Given the description of an element on the screen output the (x, y) to click on. 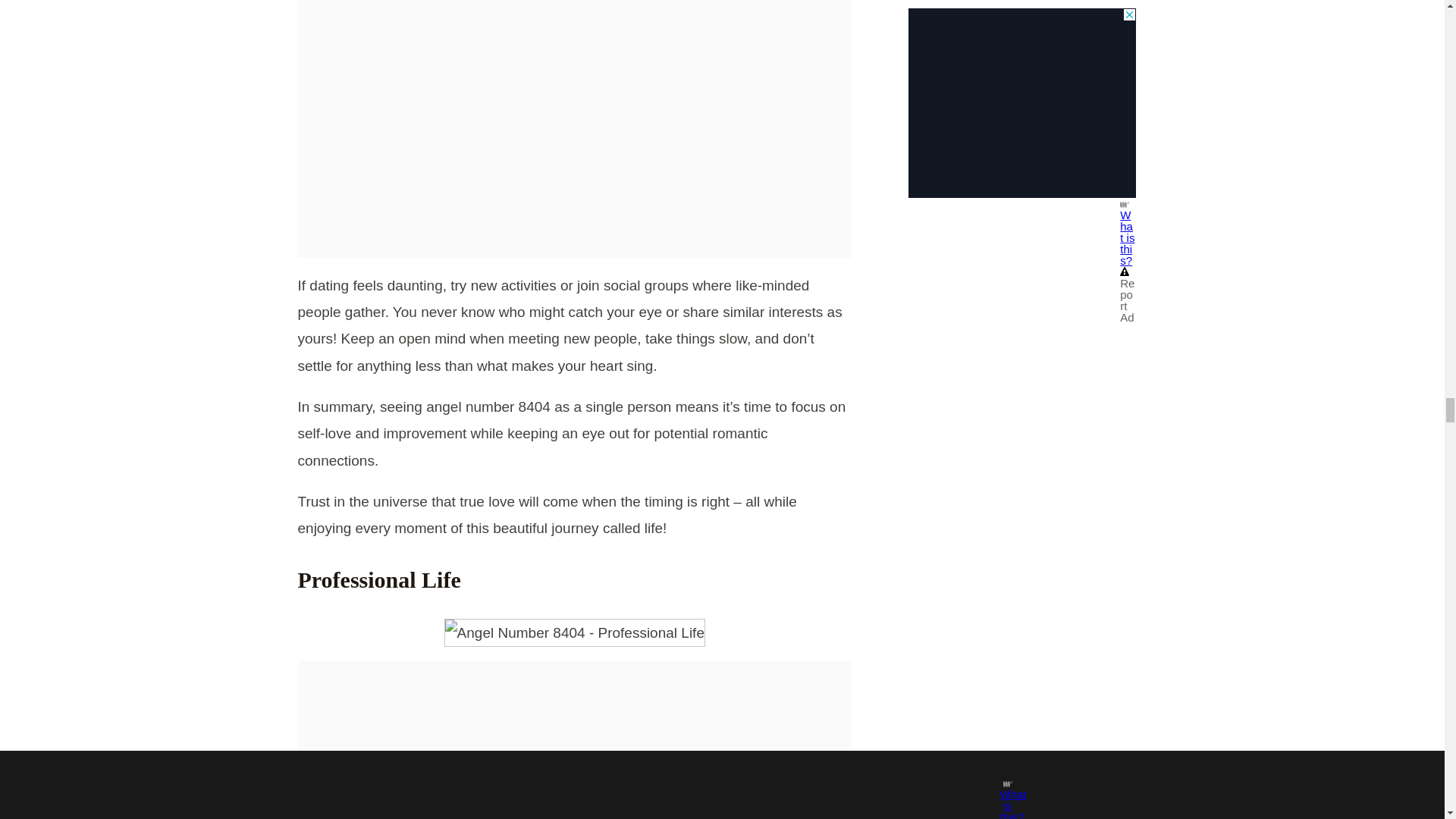
Angel Number 8404 - Professional Life (574, 633)
